Given the description of an element on the screen output the (x, y) to click on. 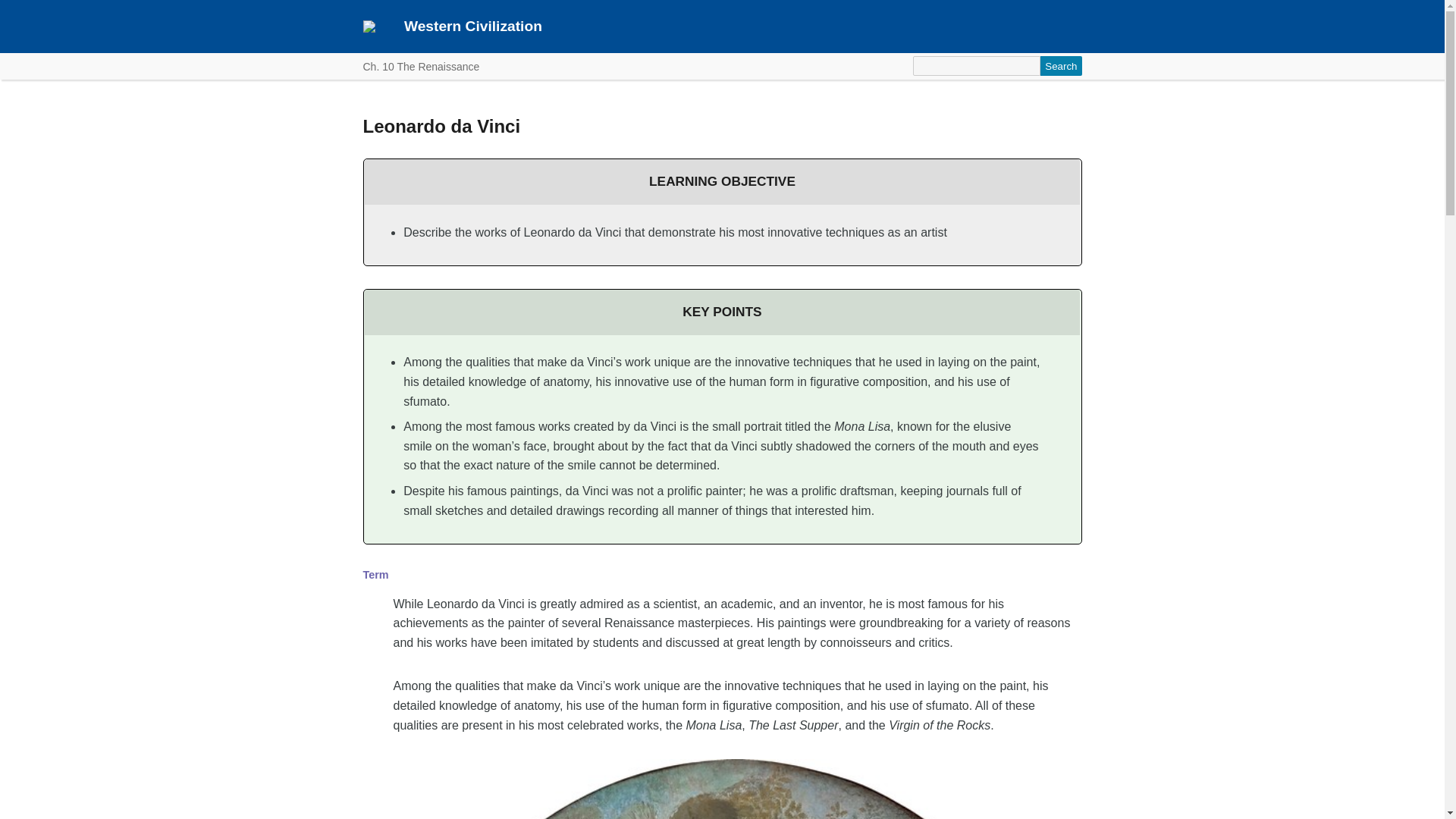
Western Civilization (472, 26)
Western Civilization (472, 26)
Search (1061, 66)
Search (1061, 66)
